Given the description of an element on the screen output the (x, y) to click on. 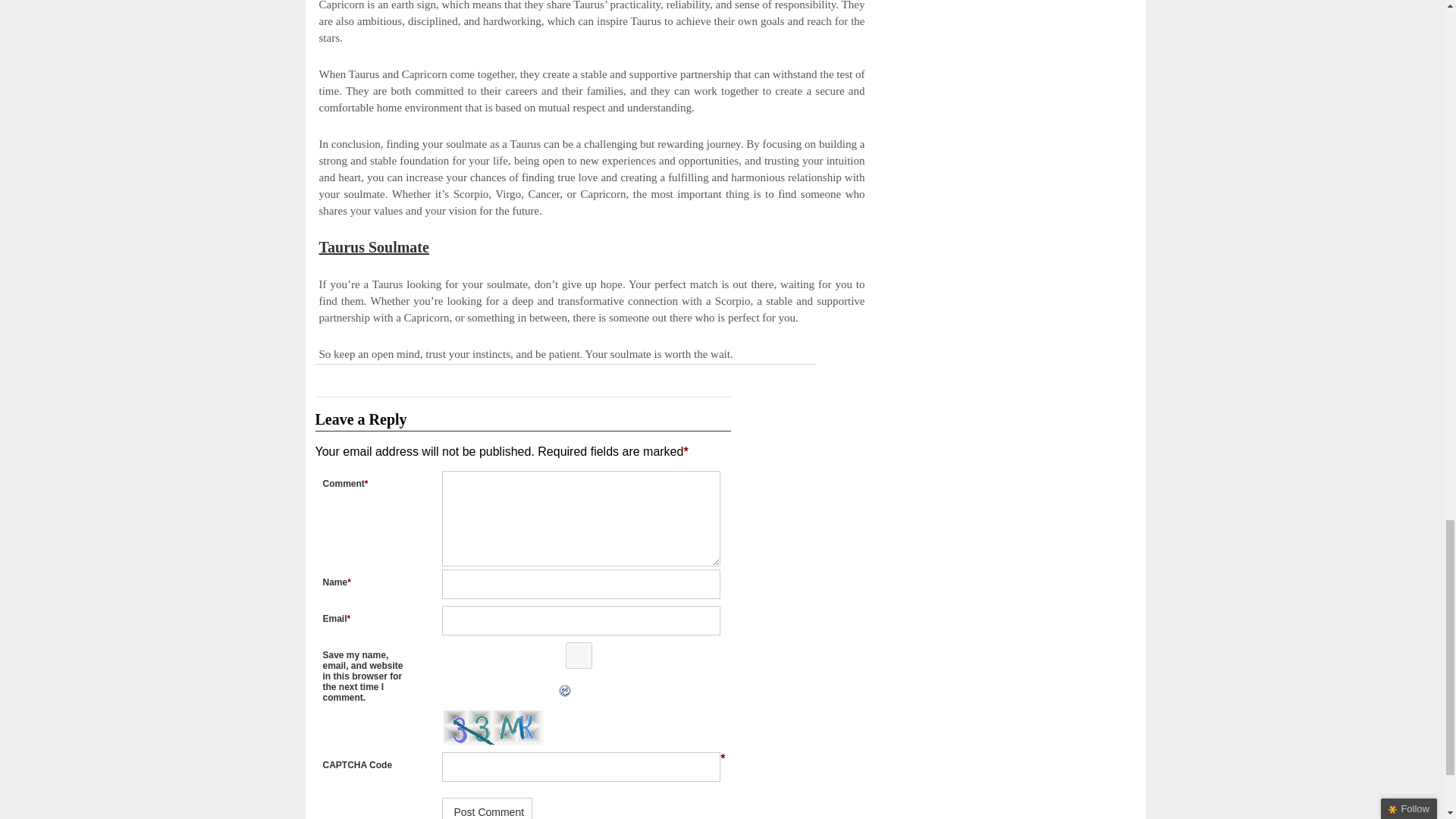
yes (578, 655)
Refresh (437, 690)
CAPTCHA (494, 727)
Post Comment (486, 808)
Post Comment (486, 808)
